Given the description of an element on the screen output the (x, y) to click on. 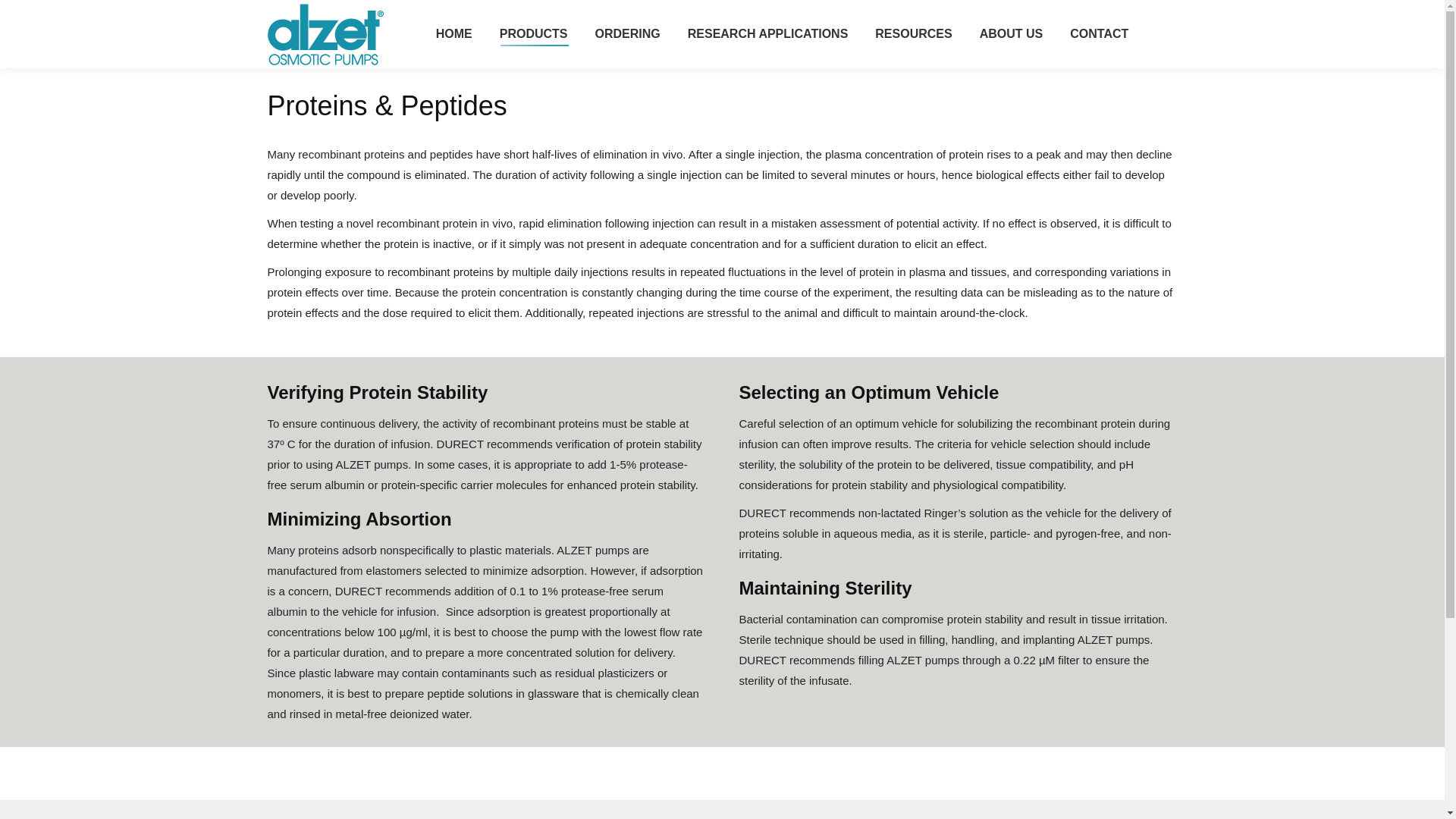
HOME (454, 33)
PRODUCTS (533, 33)
